Given the description of an element on the screen output the (x, y) to click on. 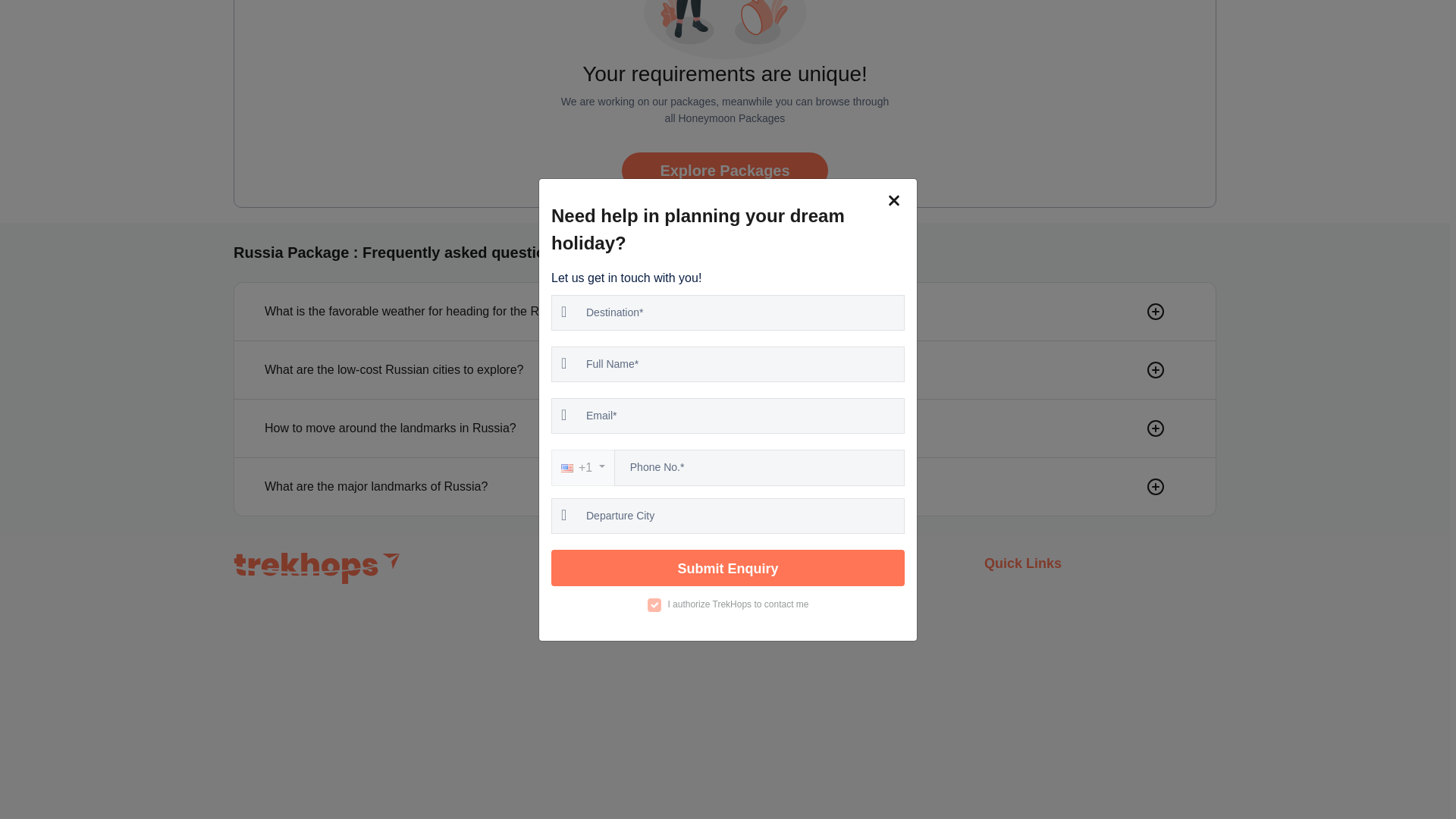
Explore Packages (724, 170)
